Given the description of an element on the screen output the (x, y) to click on. 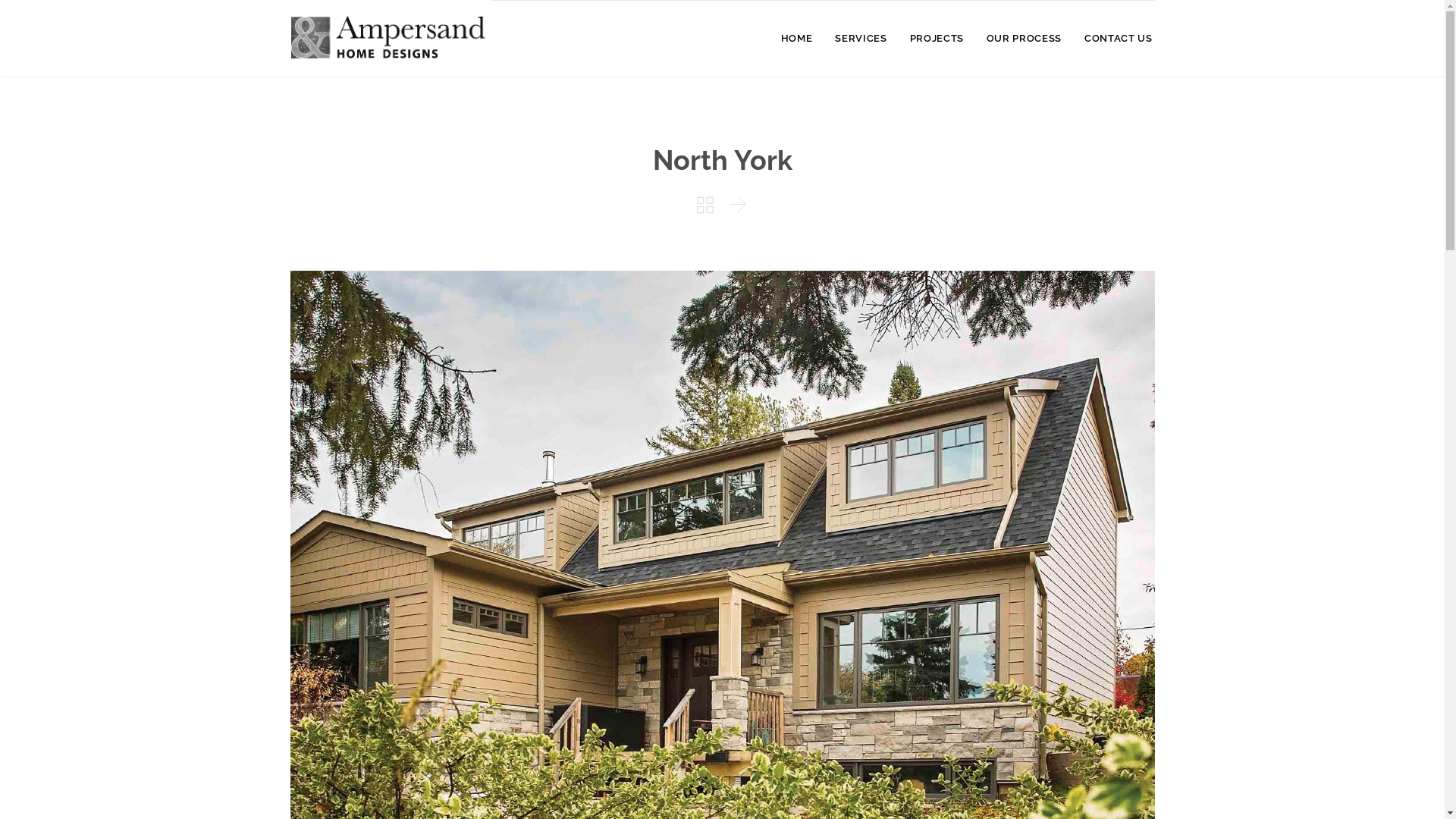
SERVICES Element type: text (860, 39)
CONTACT US Element type: text (1118, 39)
OUR PROCESS Element type: text (1023, 39)
Ampersand Home Designs Element type: hover (389, 37)
PROJECTS Element type: text (936, 39)
Skip to content Element type: text (1163, 19)
HOME Element type: text (796, 39)
